Given the description of an element on the screen output the (x, y) to click on. 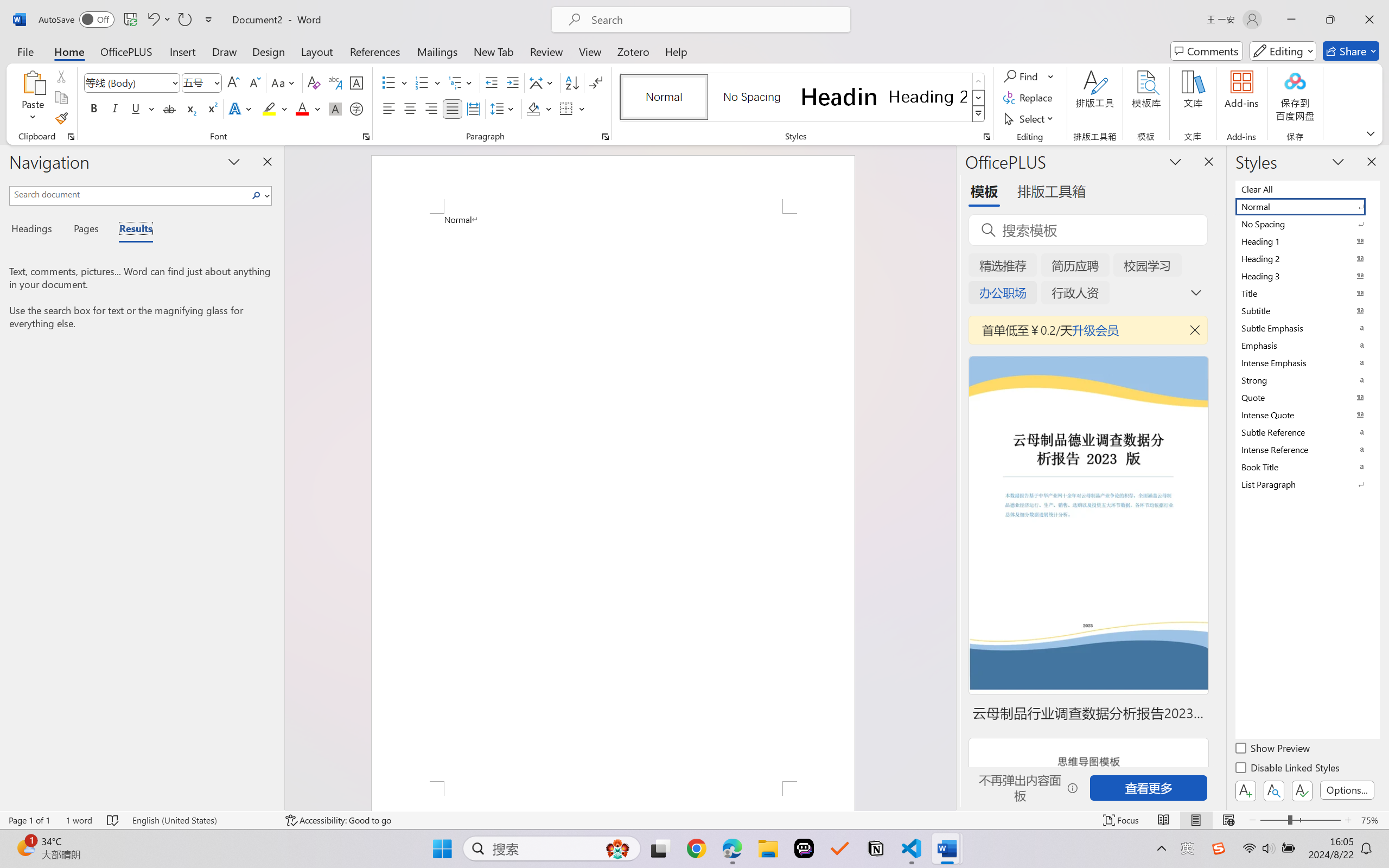
Word Count 1 word (78, 819)
Class: NetUIButton (1301, 790)
AutomationID: DynamicSearchBoxGleamImage (617, 848)
Draw (224, 51)
Subscript (190, 108)
Center (409, 108)
Quote (1306, 397)
File Tab (24, 51)
Book Title (1306, 466)
Bold (94, 108)
Mailings (437, 51)
Normal (1306, 206)
